Given the description of an element on the screen output the (x, y) to click on. 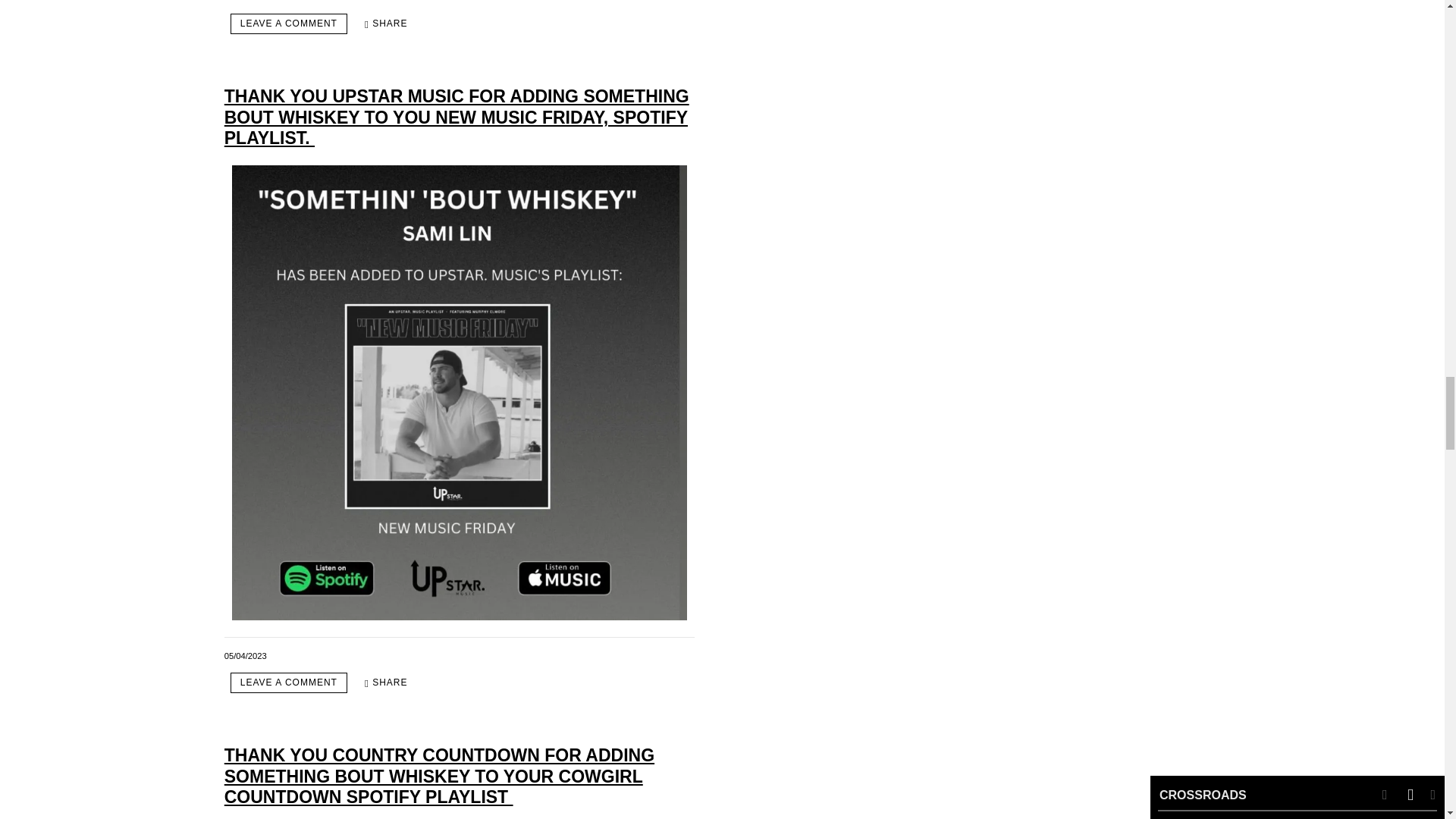
SHARE (385, 23)
LEAVE A COMMENT (288, 682)
LEAVE A COMMENT (288, 23)
Leave a comment (288, 23)
October 23, 2023 19:52 (245, 0)
